Given the description of an element on the screen output the (x, y) to click on. 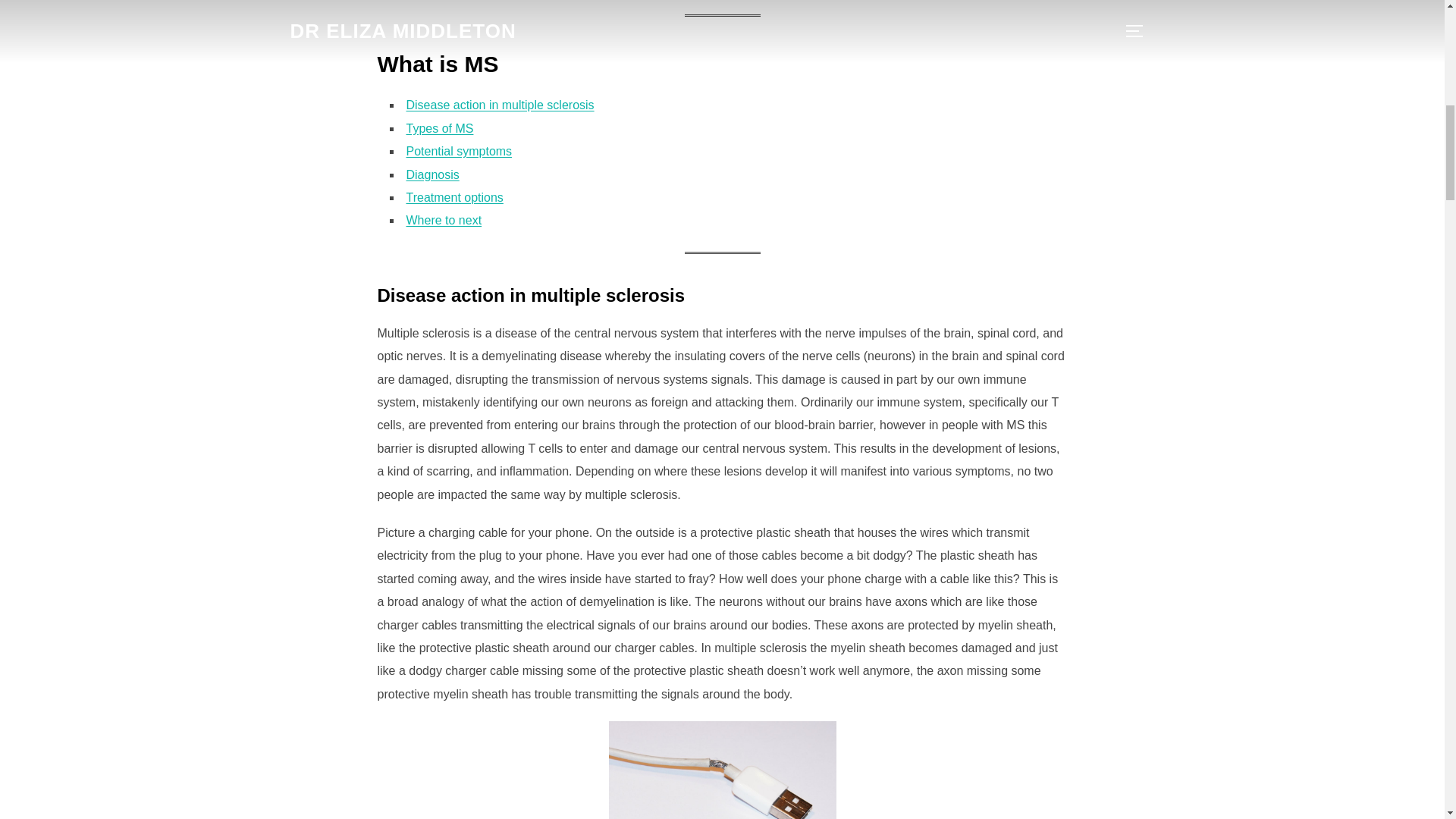
Types of MS (440, 128)
Potential symptoms (459, 151)
Diagnosis (433, 174)
Treatment options (454, 196)
Disease action in multiple sclerosis (500, 104)
Where to next (443, 219)
